Given the description of an element on the screen output the (x, y) to click on. 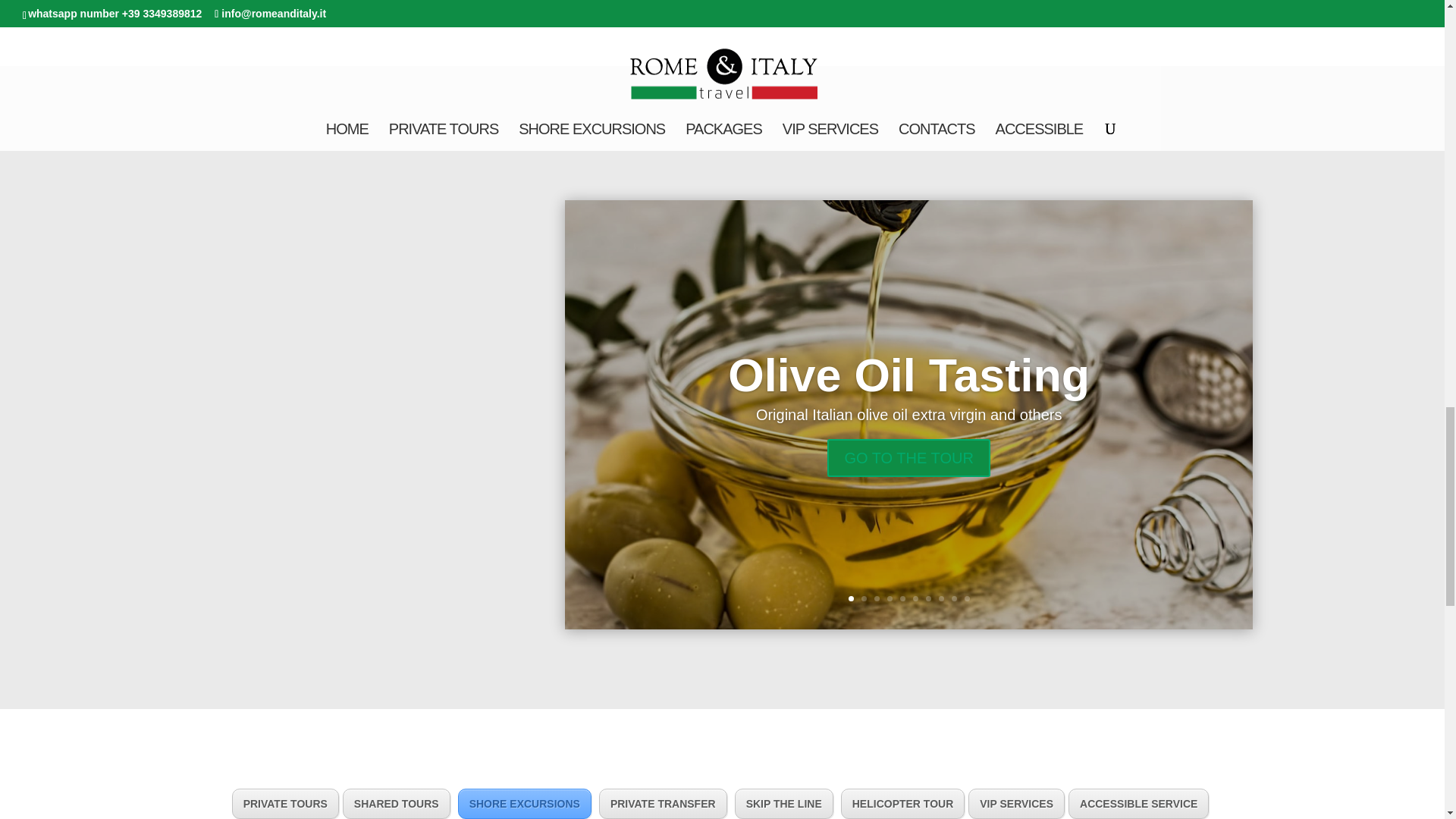
GO TO THE TOUR (908, 489)
